Given the description of an element on the screen output the (x, y) to click on. 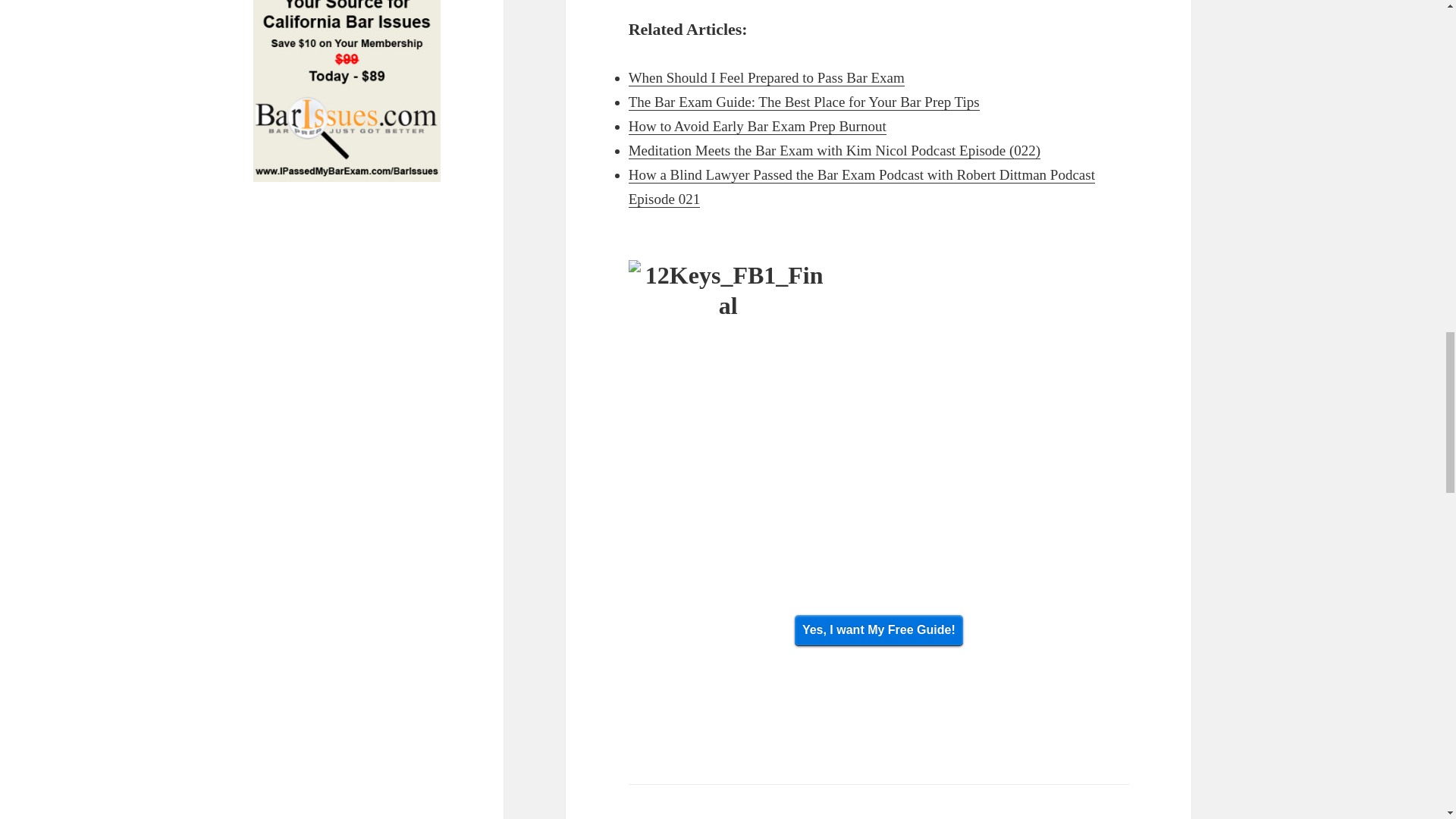
How to Avoid Early Bar Exam Prep Burnout (757, 126)
Yes, I want My Free Guide! (878, 630)
When Should I Feel Prepared to Pass Bar Exam (766, 77)
The Bar Exam Guide: The Best Place for Your Bar Prep Tips (803, 102)
